Given the description of an element on the screen output the (x, y) to click on. 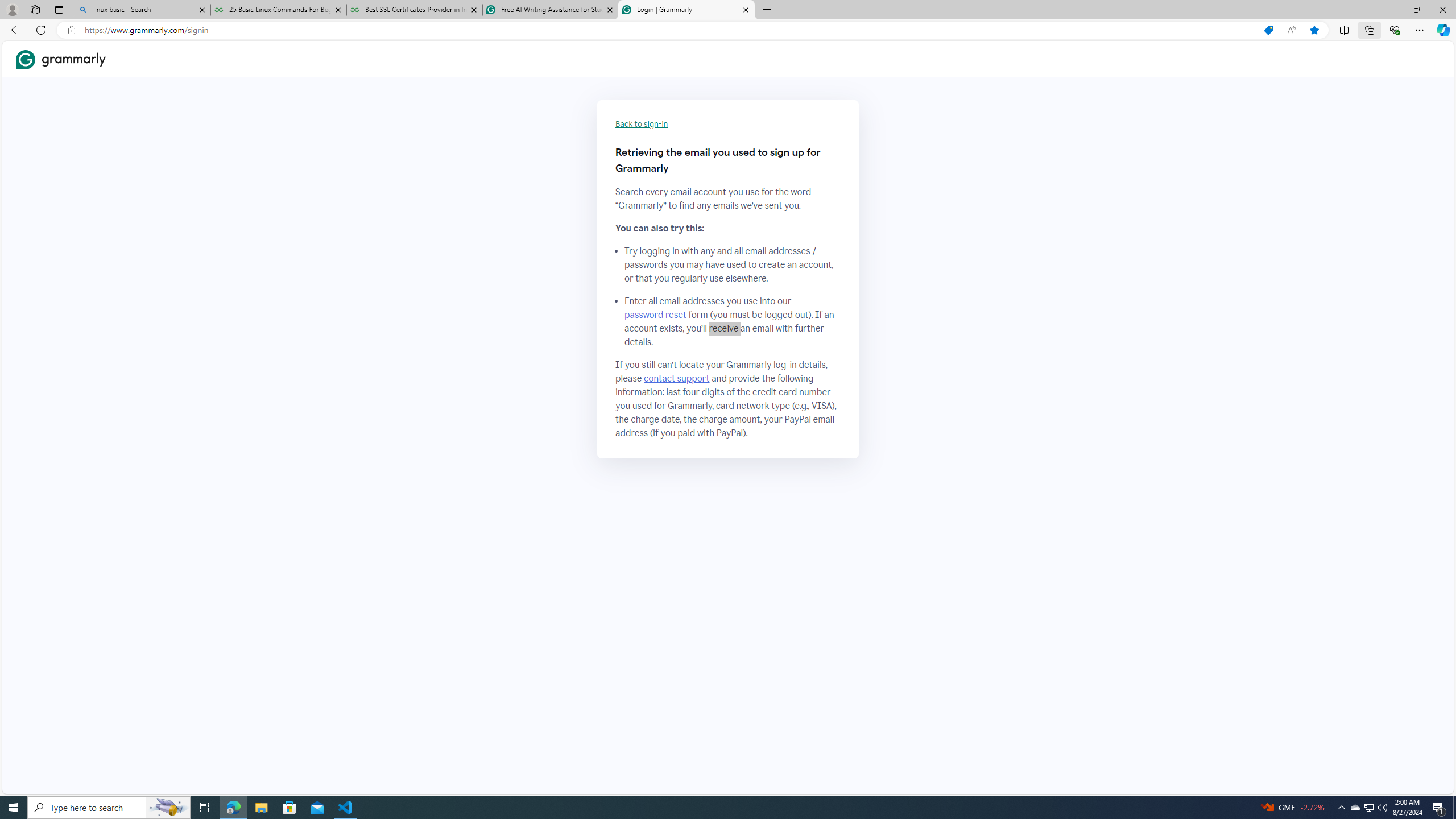
Back to sign-in (641, 124)
Best SSL Certificates Provider in India - GeeksforGeeks (414, 9)
Login | Grammarly (685, 9)
password reset (654, 314)
